Given the description of an element on the screen output the (x, y) to click on. 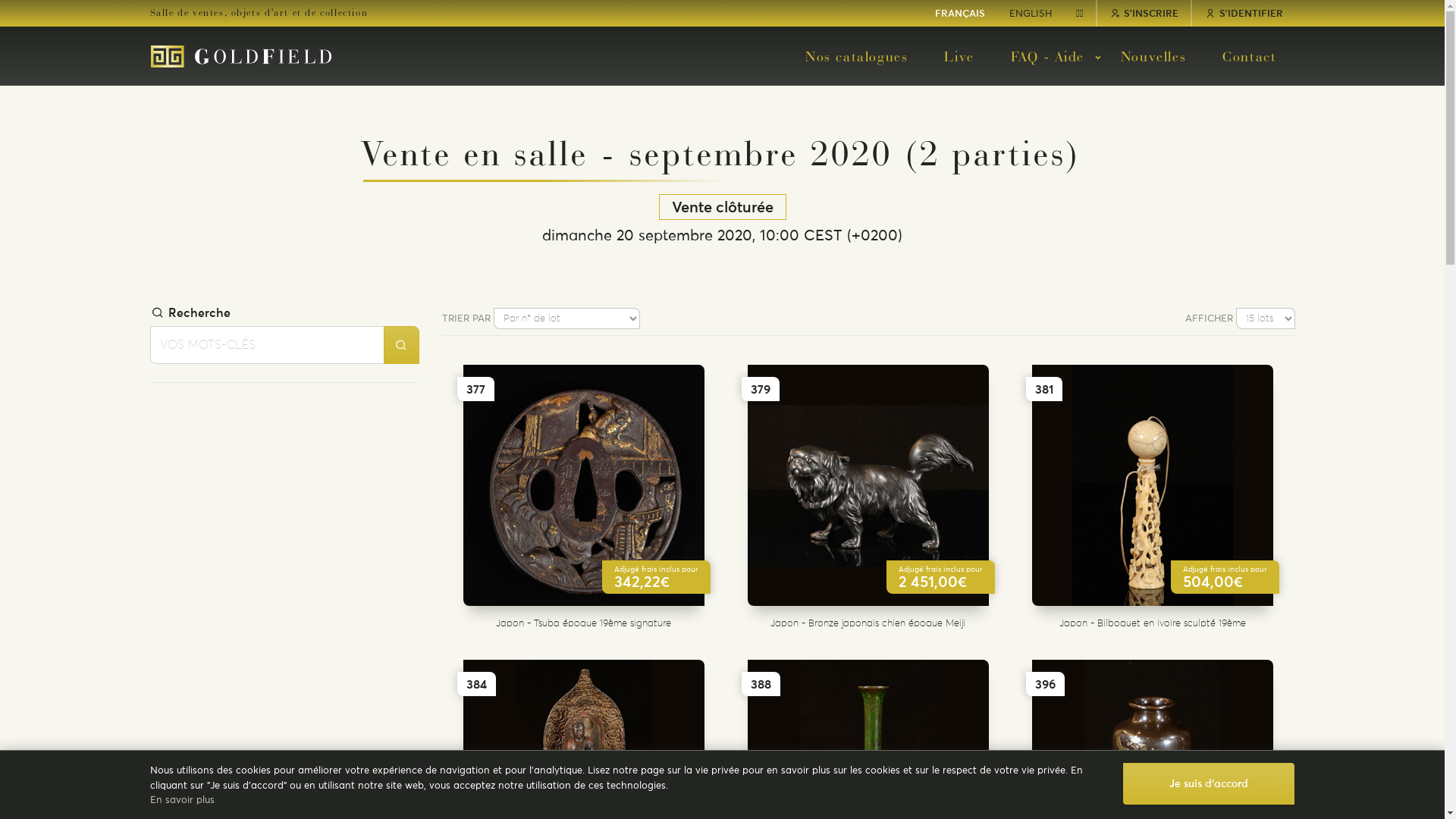
Contact Element type: text (1249, 55)
Nouvelles Element type: text (1153, 55)
catalog_search Element type: text (401, 345)
S'IDENTIFIER Element type: text (1243, 13)
S'INSCRIRE Element type: text (1143, 13)
En savoir plus Element type: text (182, 799)
GoldField Auctions Element type: hover (241, 56)
Nos catalogues Element type: text (856, 55)
Je suis d'accord Element type: text (1209, 783)
Live Element type: text (958, 55)
FAQ - Aide Element type: text (1047, 55)
ENGLISH Element type: text (1030, 13)
